Given the description of an element on the screen output the (x, y) to click on. 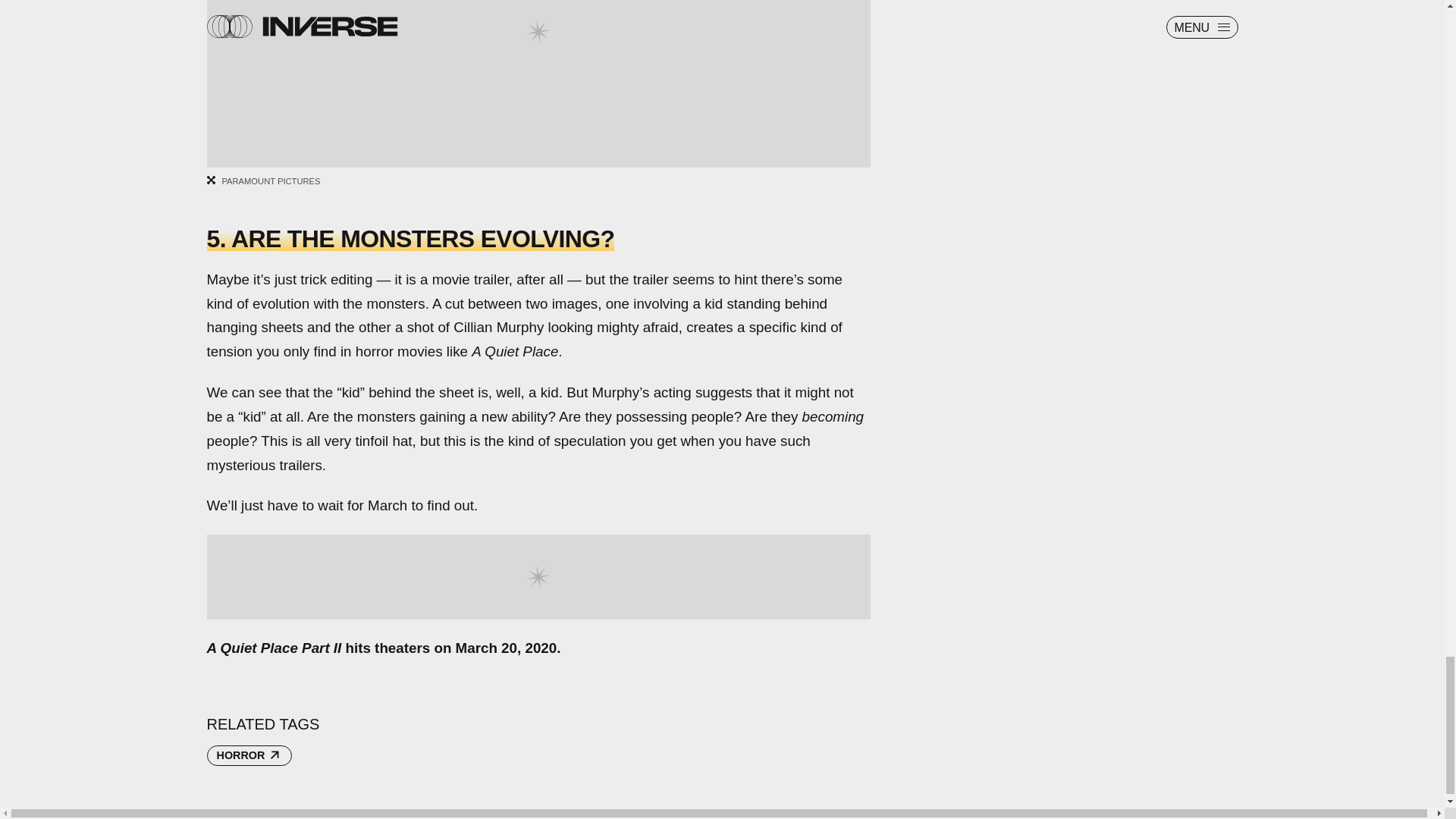
HORROR (248, 755)
